Given the description of an element on the screen output the (x, y) to click on. 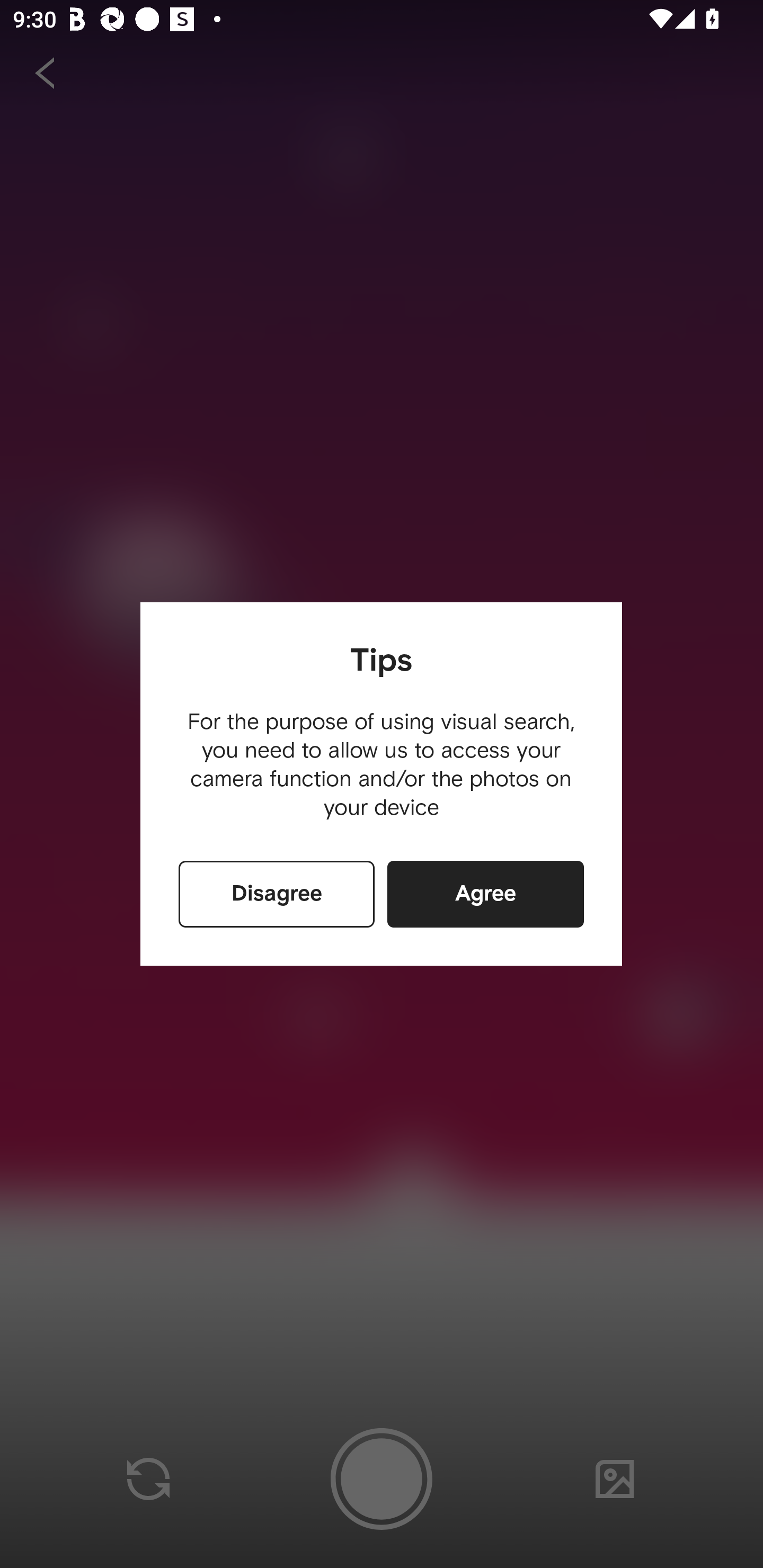
Disagree (276, 894)
Agree (485, 894)
